Given the description of an element on the screen output the (x, y) to click on. 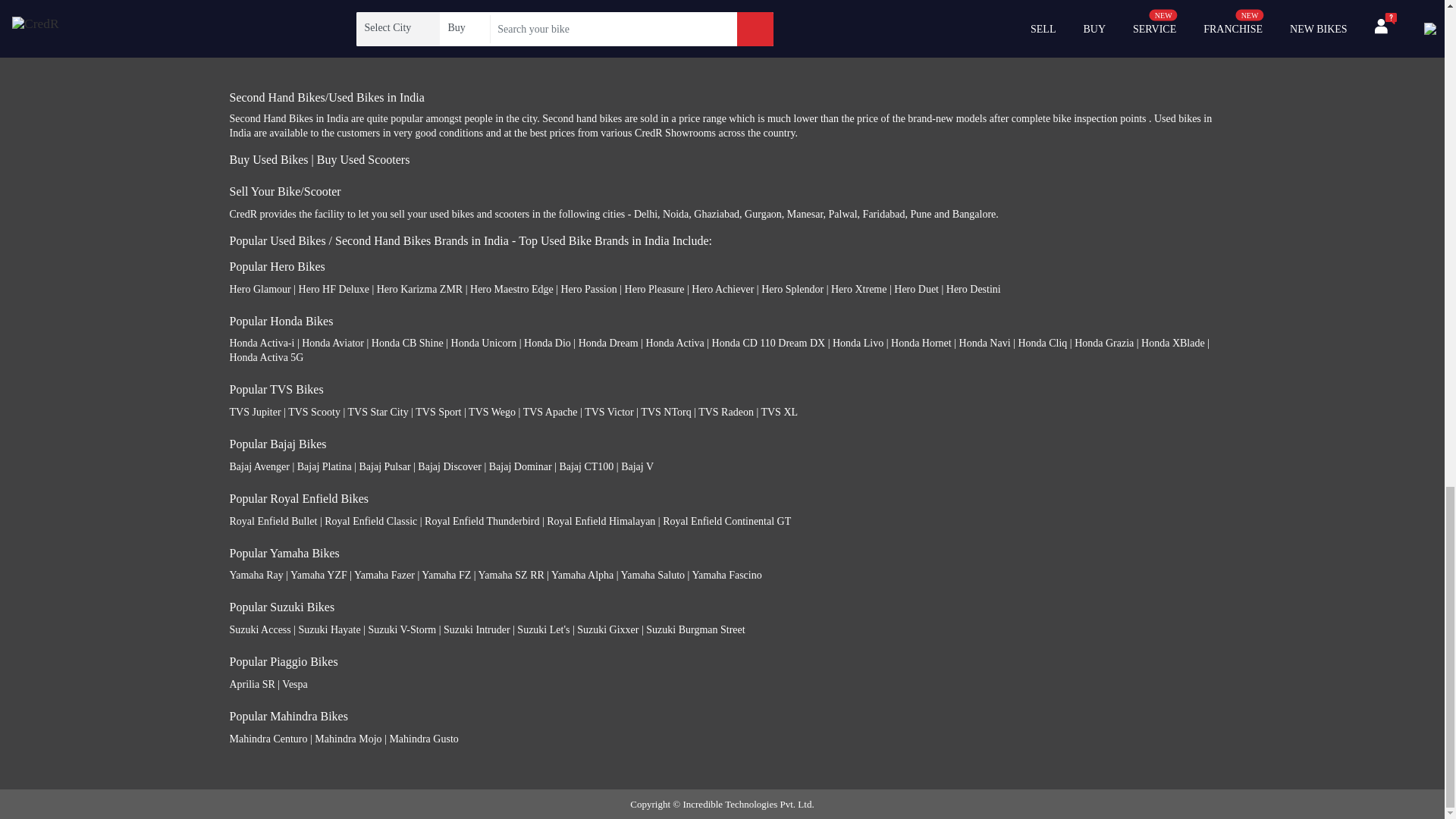
Hero Maestro Edge (511, 288)
Hero Achiever (722, 288)
Hero Glamour (258, 288)
Hero (238, 12)
Hero Xtreme (858, 288)
888 488 5455 (509, 21)
Hero Splendor (792, 288)
Buy Used Scooters (363, 159)
Buy Used Bikes (267, 159)
Royal Enfield (255, 31)
KTM (239, 51)
Hero HF Deluxe (333, 288)
Hero Passion (587, 288)
Hero Pleasure (654, 288)
Popular Hero Bikes (276, 266)
